Given the description of an element on the screen output the (x, y) to click on. 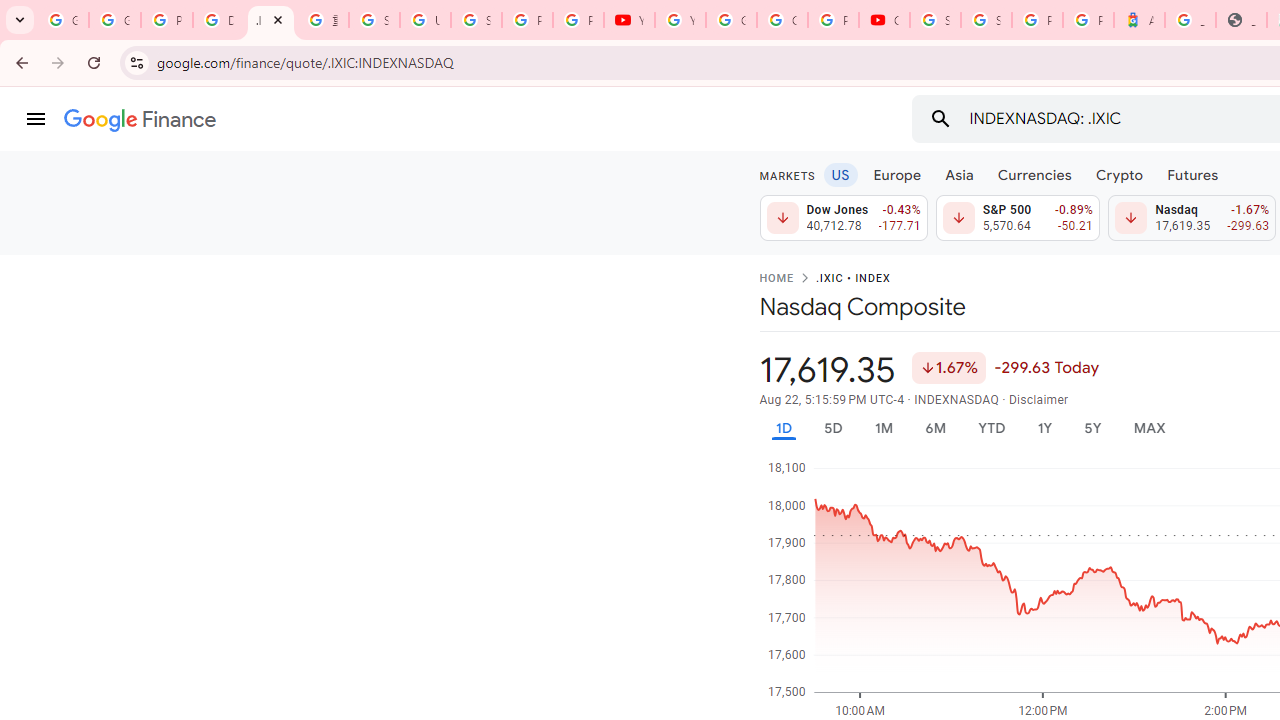
5Y (1092, 427)
Asia (958, 174)
Sign in - Google Accounts (475, 20)
S&P 500 5,570.64 Down by 0.89% -50.21 (1017, 218)
Google Account Help (731, 20)
Nasdaq 17,619.35 Down by 1.67% -299.63 (1192, 218)
